Given the description of an element on the screen output the (x, y) to click on. 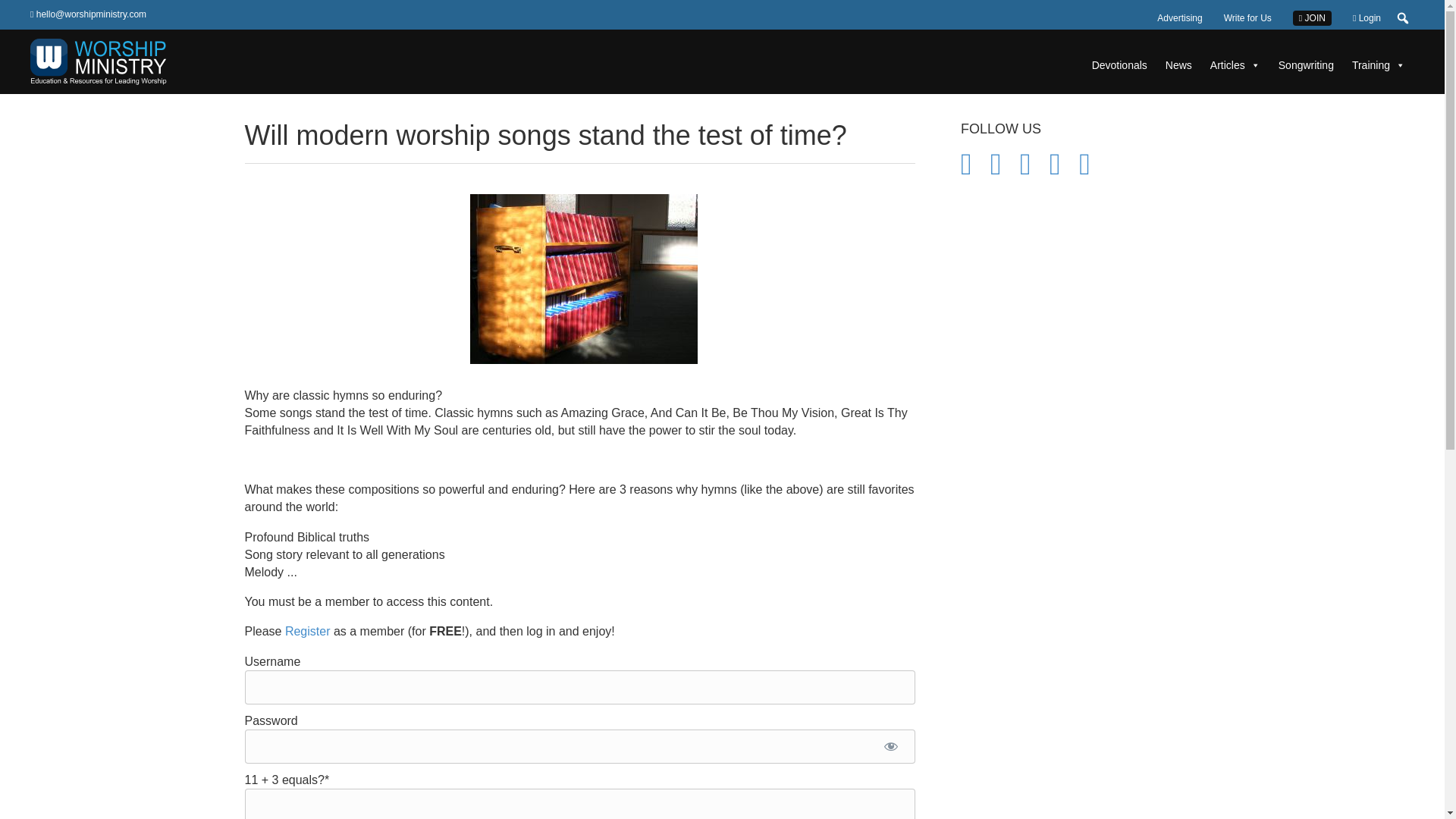
Search (11, 12)
Hymns (583, 278)
Free Lifetime Membership (307, 631)
JOIN (1312, 17)
Write for Us (1247, 17)
Login (1366, 17)
Advertising (1179, 17)
JOIN (1312, 17)
